Given the description of an element on the screen output the (x, y) to click on. 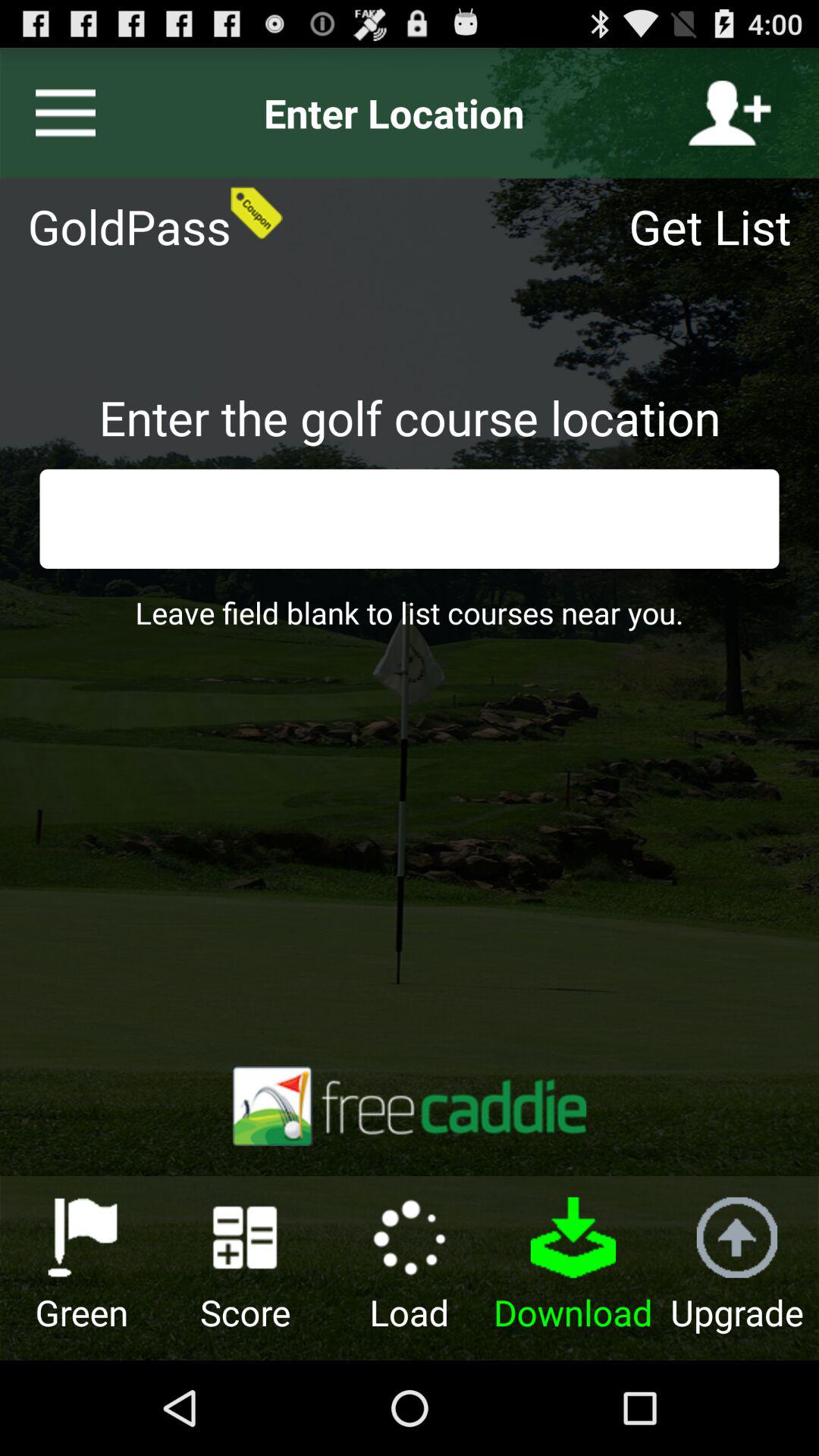
press the app above the goldpass icon (59, 112)
